Given the description of an element on the screen output the (x, y) to click on. 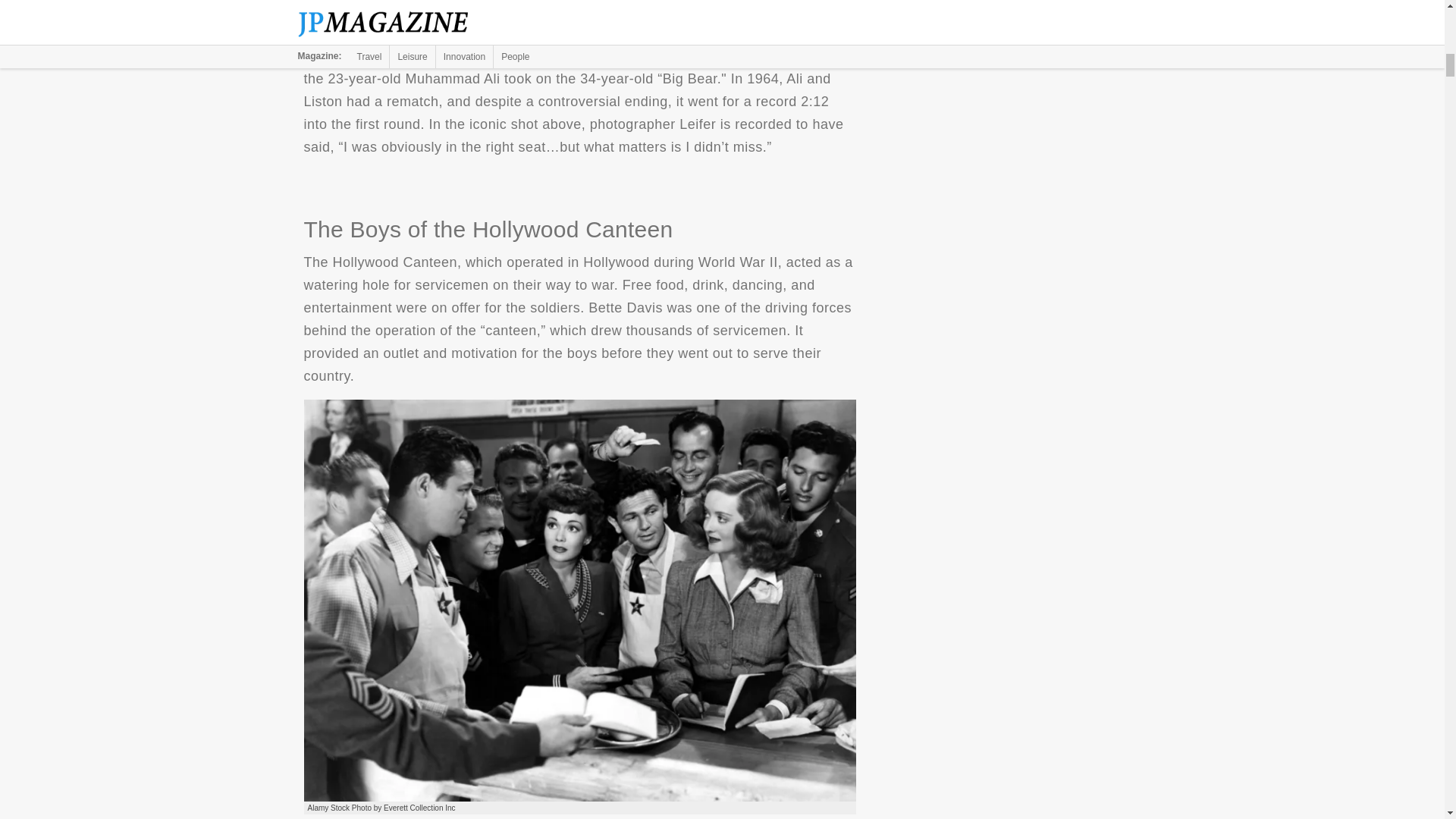
Float Like A Butterfly... Sting Like Ali! (579, 9)
